Given the description of an element on the screen output the (x, y) to click on. 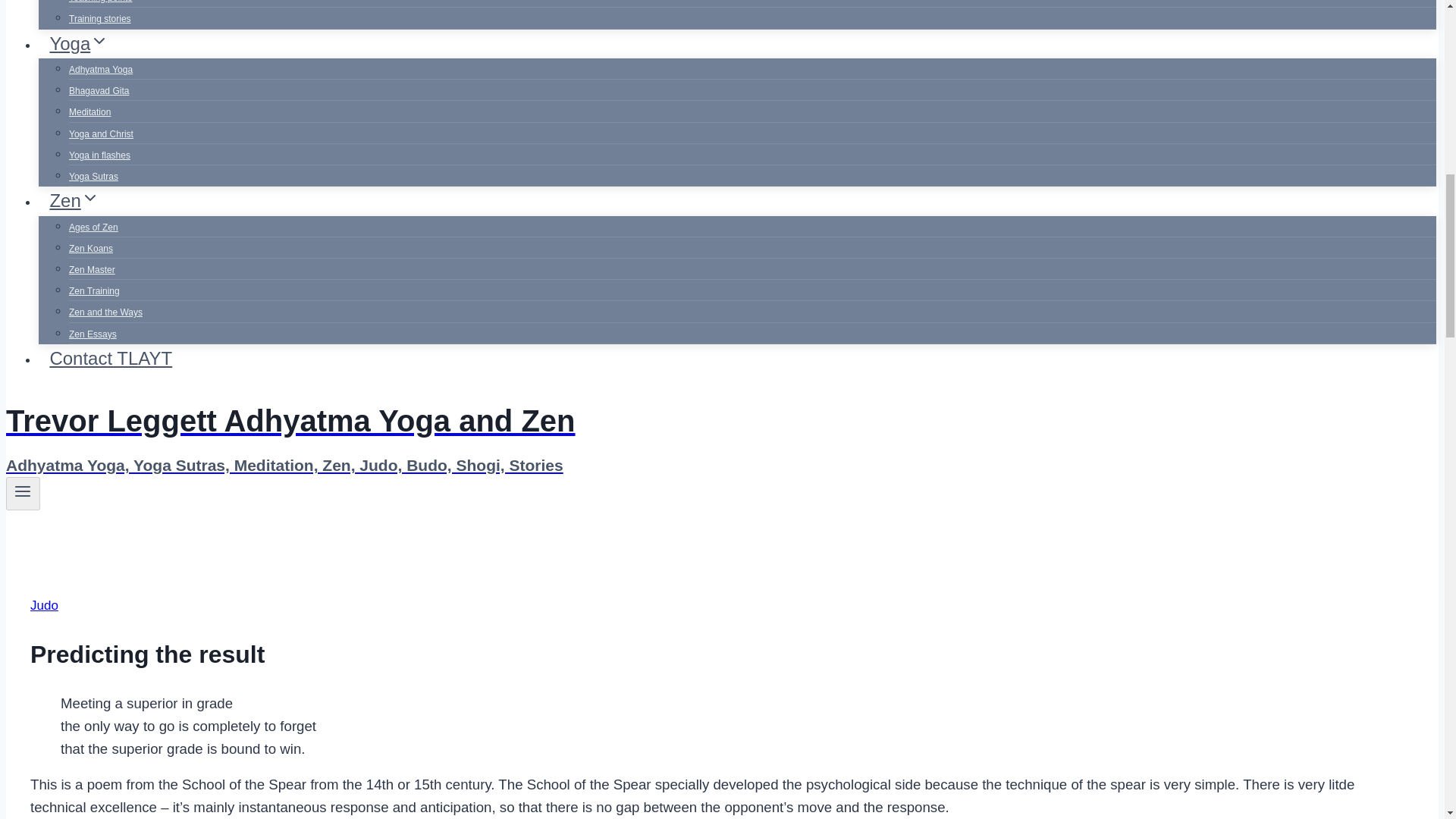
Training stories (99, 18)
Expand (98, 40)
Zen Master (91, 269)
YogaExpand (79, 43)
Adhyatma Yoga (100, 69)
Yoga and Christ (100, 133)
Teaching points (100, 6)
Zen Koans (90, 248)
Zen Training (93, 290)
Yoga in flashes (99, 154)
